Given the description of an element on the screen output the (x, y) to click on. 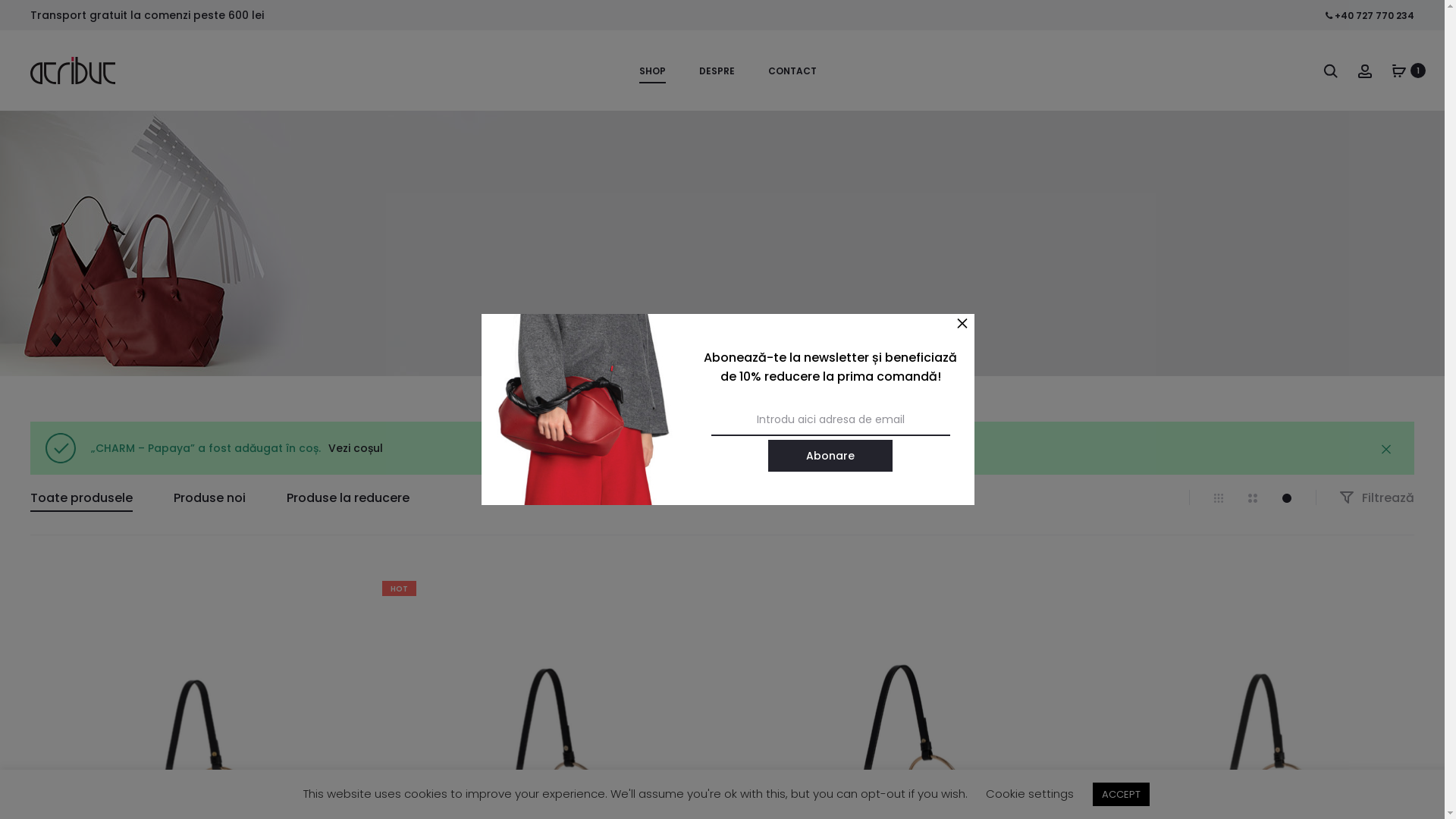
+40 727 770 234 Element type: text (1369, 15)
1 Element type: text (1387, 70)
Cookie settings Element type: text (1029, 793)
DESPRE Element type: text (710, 71)
Abonare Element type: text (830, 455)
SHOP Element type: text (646, 71)
Produse noi Element type: text (209, 497)
Toate produsele Element type: text (81, 497)
CONTACT Element type: text (786, 71)
Produse la reducere Element type: text (347, 497)
ACCEPT Element type: text (1120, 794)
